Given the description of an element on the screen output the (x, y) to click on. 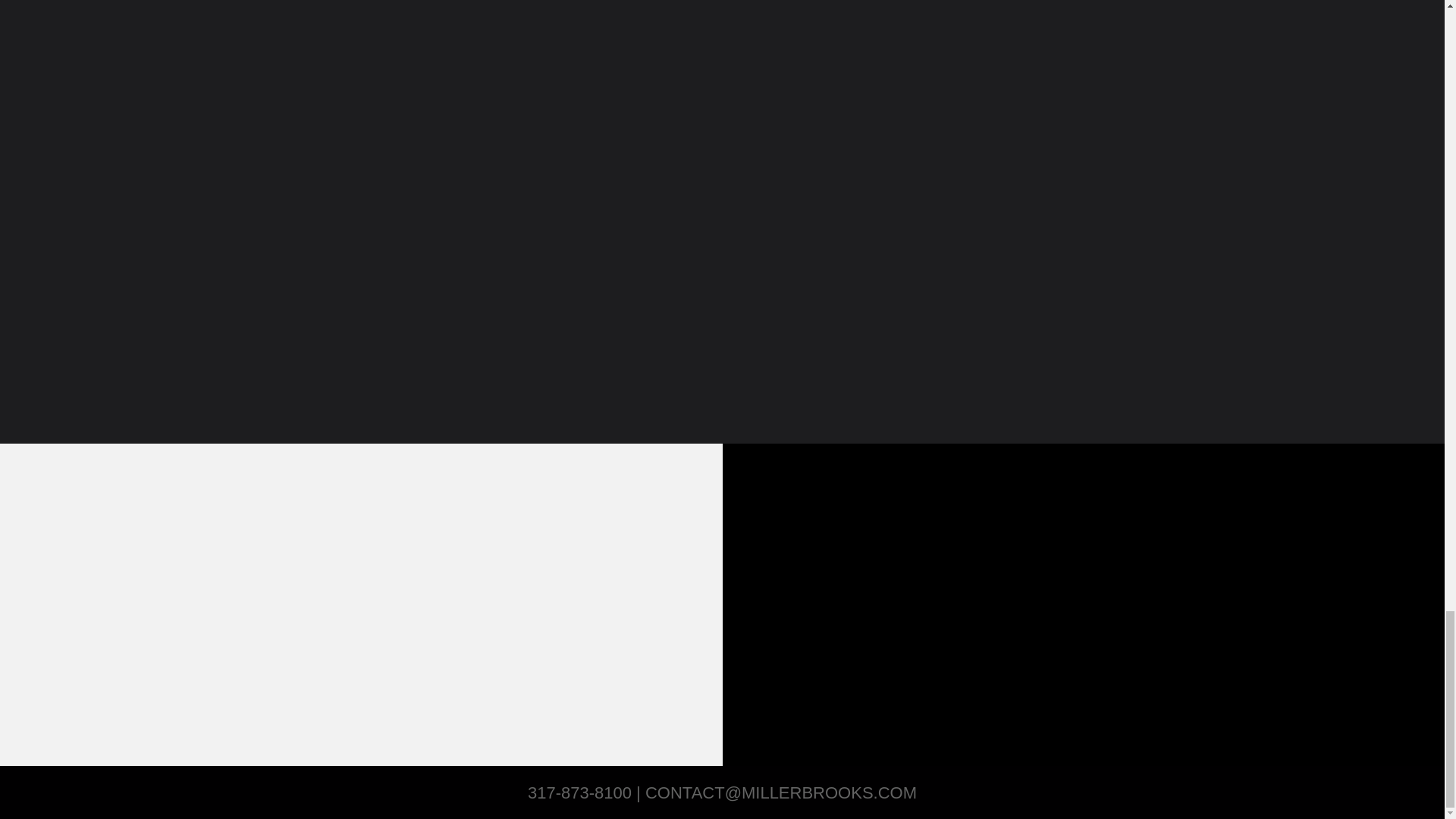
317-873-8100 (579, 792)
